Given the description of an element on the screen output the (x, y) to click on. 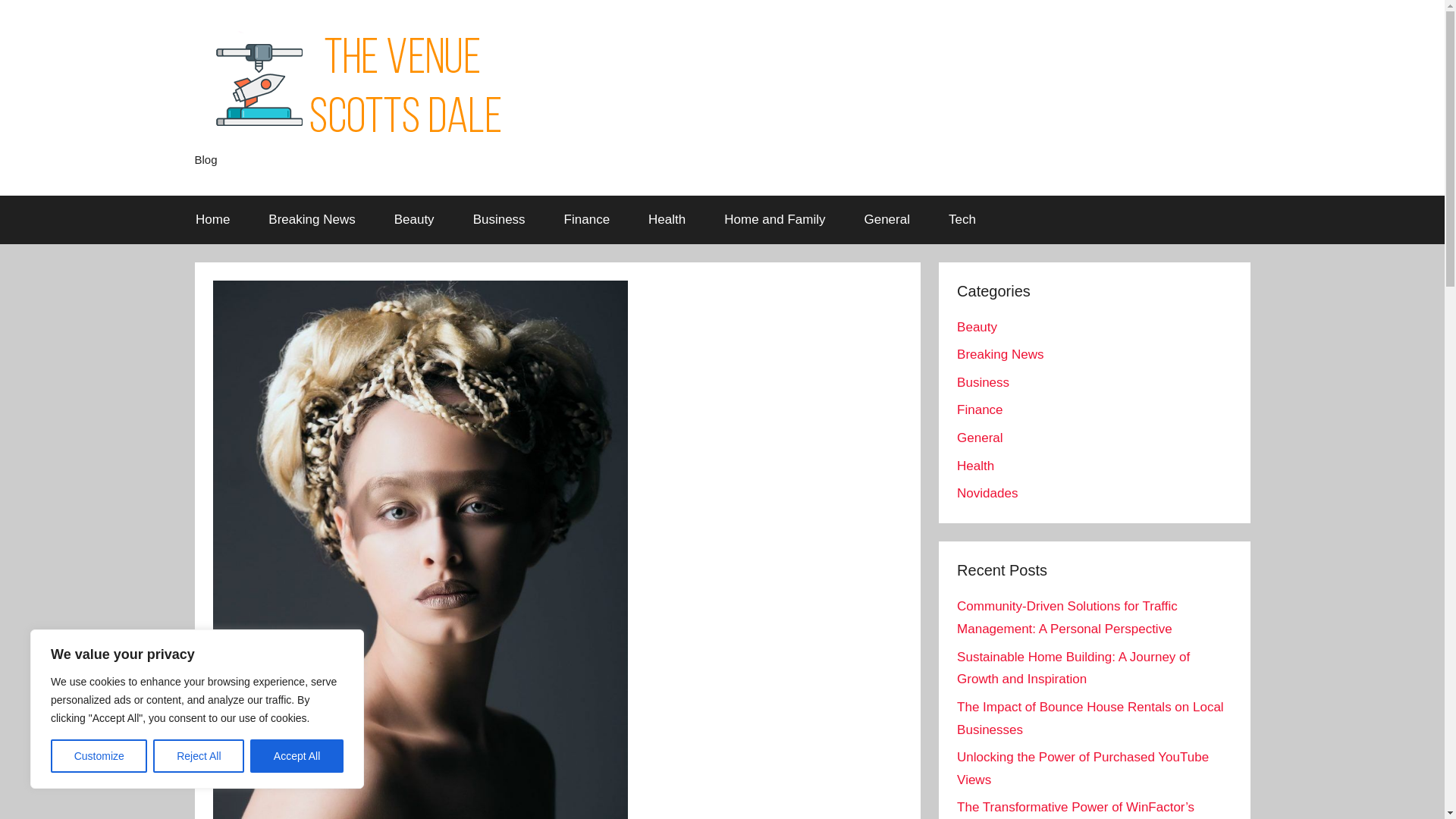
Business (498, 219)
Reject All (198, 756)
Tech (961, 219)
General (886, 219)
Business (982, 382)
Beauty (976, 327)
Home (212, 219)
Finance (586, 219)
Health (666, 219)
Beauty (413, 219)
